Given the description of an element on the screen output the (x, y) to click on. 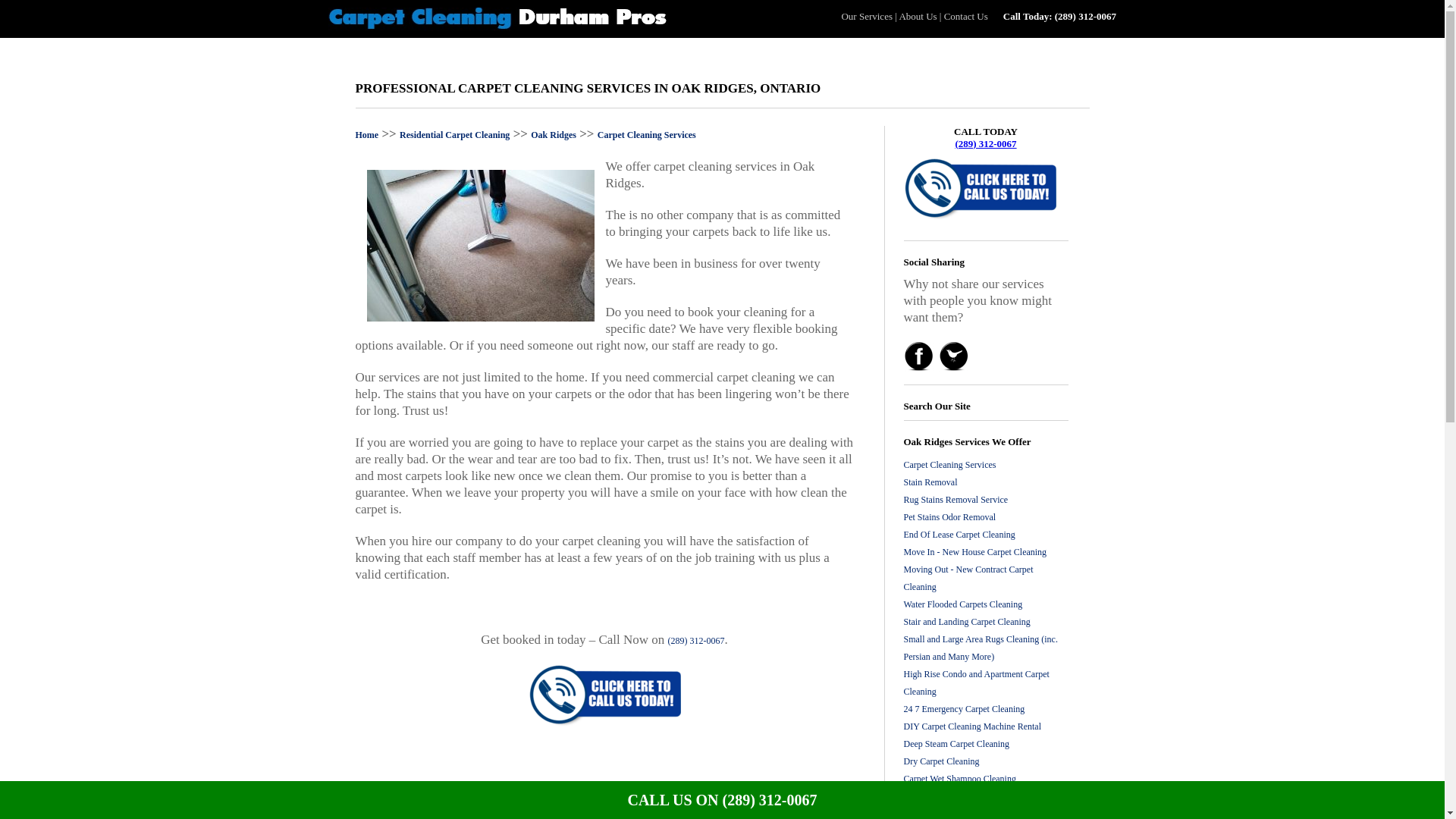
Water Flooded Carpets Cleaning (963, 603)
Residential Carpet Cleaning (453, 134)
Deep Steam Carpet Cleaning (957, 743)
Dry Carpet Cleaning (941, 760)
24 7 Emergency Carpet Cleaning (964, 708)
Stain Removal (931, 481)
Home (366, 134)
Moving Out - New Contract Carpet Cleaning (968, 578)
High Rise Condo and Apartment Carpet Cleaning (976, 682)
Stair and Landing Carpet Cleaning (967, 621)
